Given the description of an element on the screen output the (x, y) to click on. 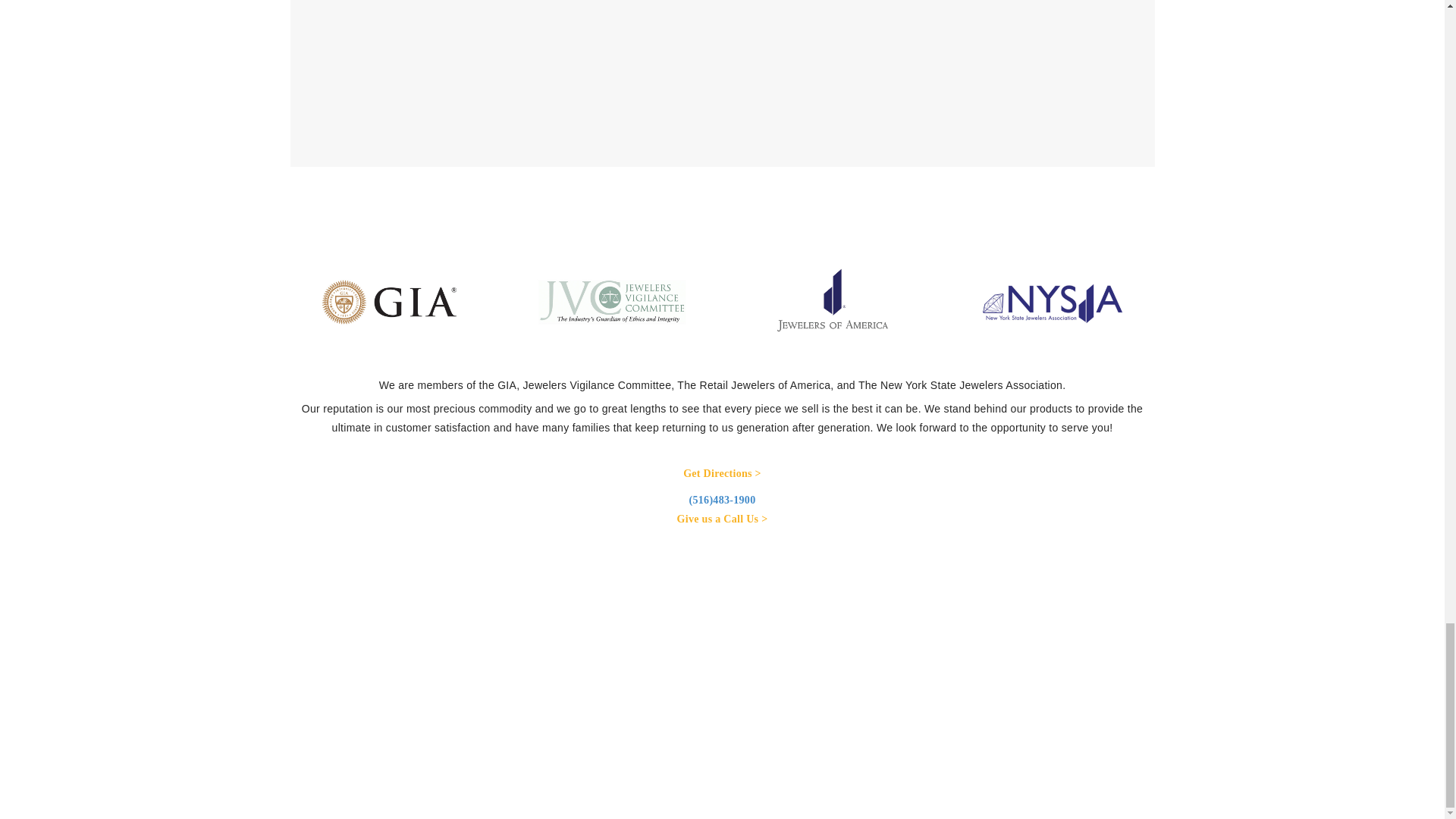
Dee T (601, 594)
Nancy Stile (601, 37)
Evelyn Viegas (601, 279)
